Given the description of an element on the screen output the (x, y) to click on. 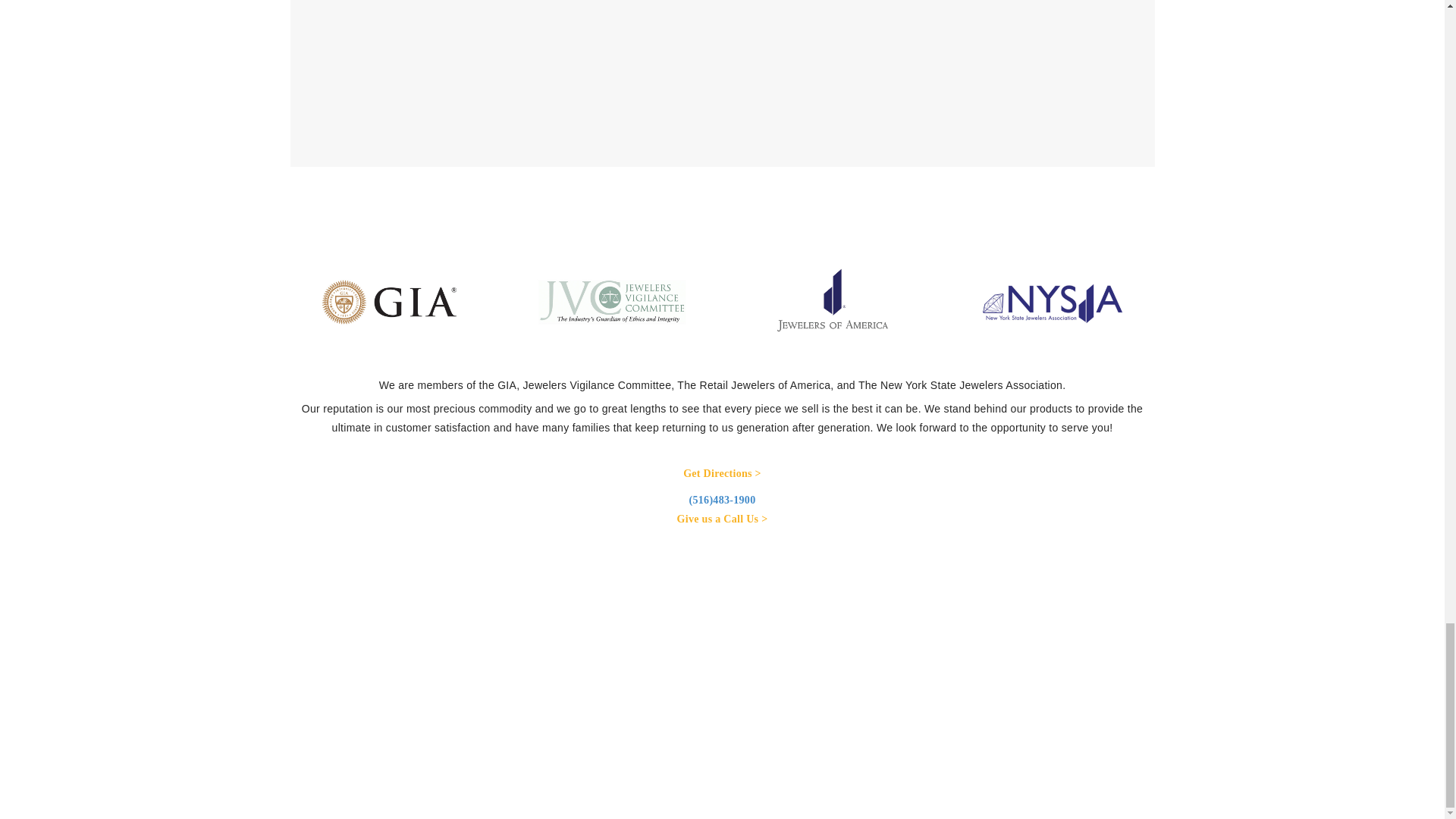
Dee T (601, 594)
Nancy Stile (601, 37)
Evelyn Viegas (601, 279)
